Given the description of an element on the screen output the (x, y) to click on. 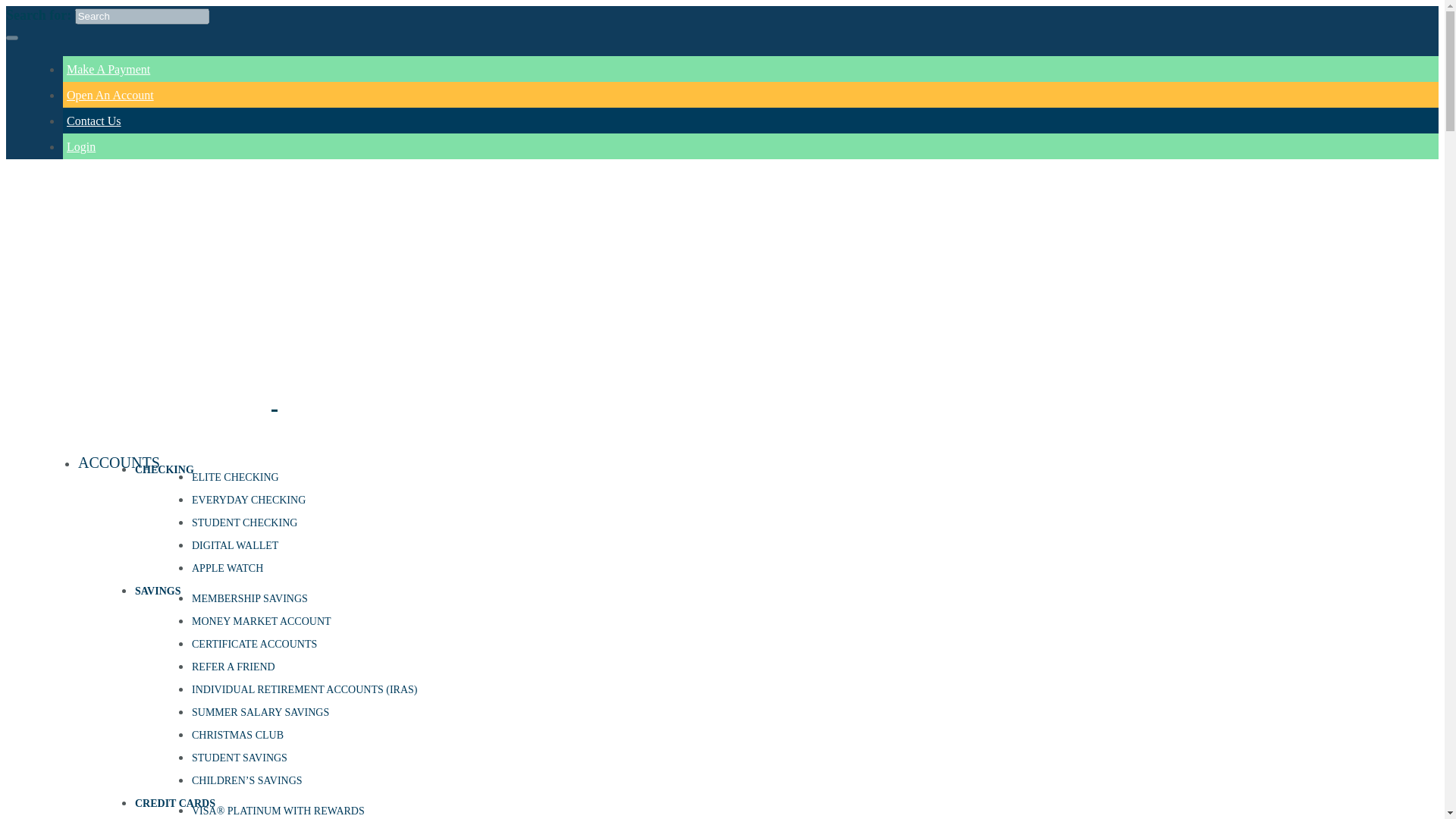
login-to-your-online-banking-here (81, 146)
make-a-payment-here (107, 69)
Open An Account (110, 94)
CHRISTMAS CLUB (237, 735)
login-to-your-online-banking-here (1340, 112)
ACCOUNTS (119, 462)
ELITE CHECKING (235, 477)
SAVINGS (157, 591)
CREDIT CARDS (175, 803)
contact-camino-fcu-here (1359, 85)
